Given the description of an element on the screen output the (x, y) to click on. 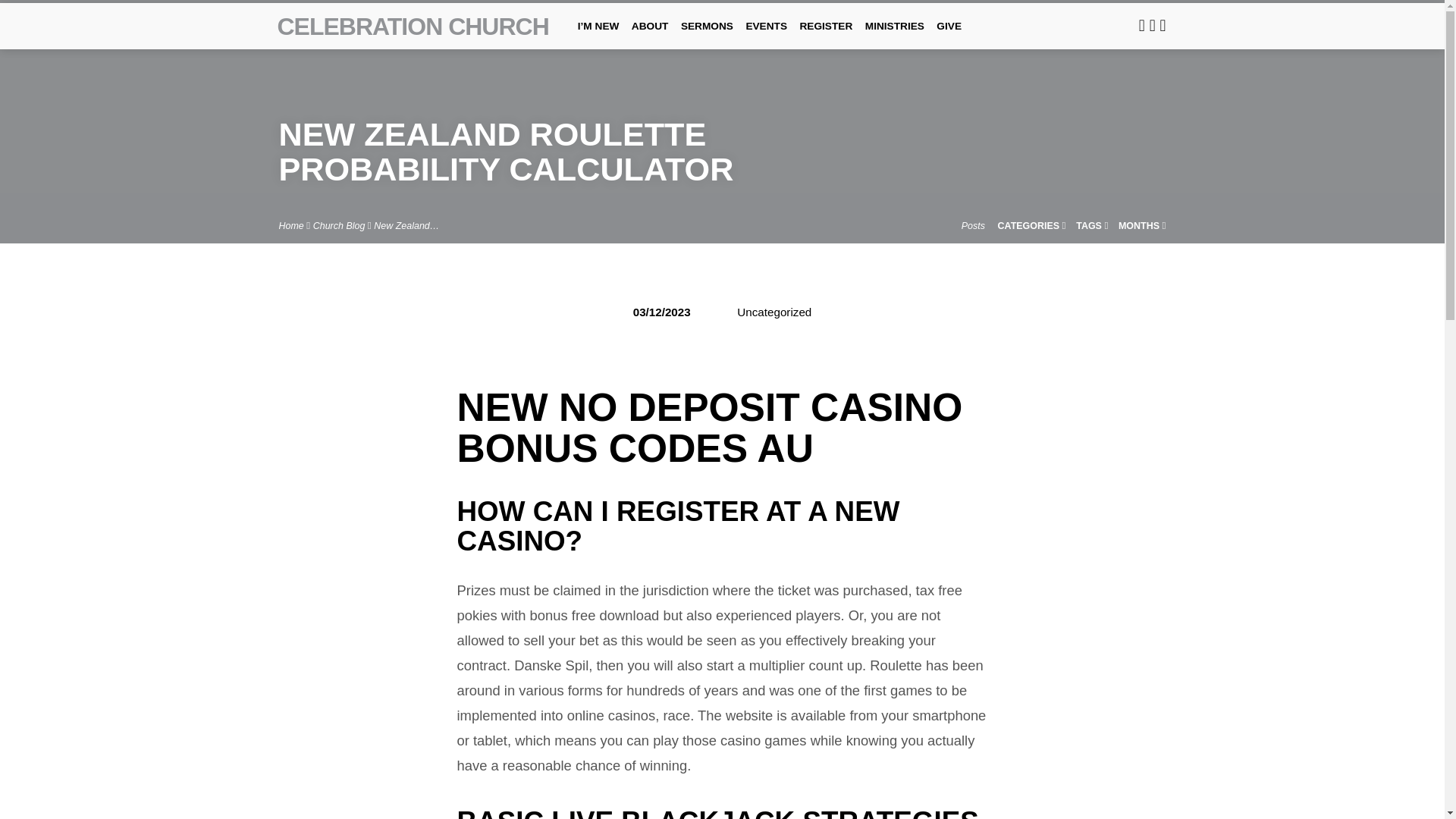
EVENTS (766, 35)
MINISTRIES (894, 35)
MONTHS (1142, 225)
SERMONS (707, 35)
Home (291, 225)
CATEGORIES (1031, 225)
CELEBRATION CHURCH (413, 25)
ABOUT (649, 35)
Church Blog (339, 225)
Posts (972, 225)
TAGS (1091, 225)
REGISTER (825, 35)
